Given the description of an element on the screen output the (x, y) to click on. 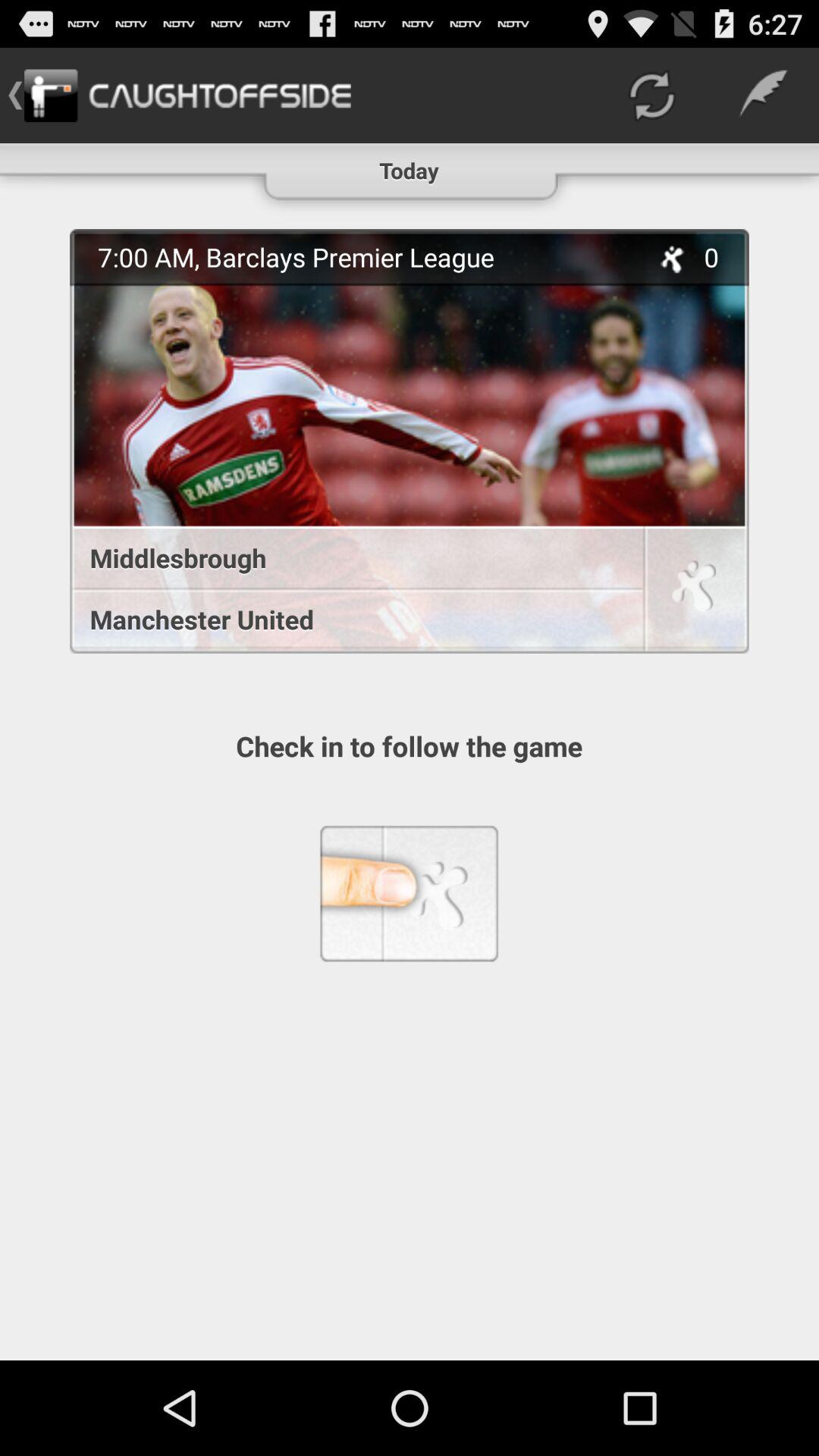
check in to follow the game (694, 591)
